Given the description of an element on the screen output the (x, y) to click on. 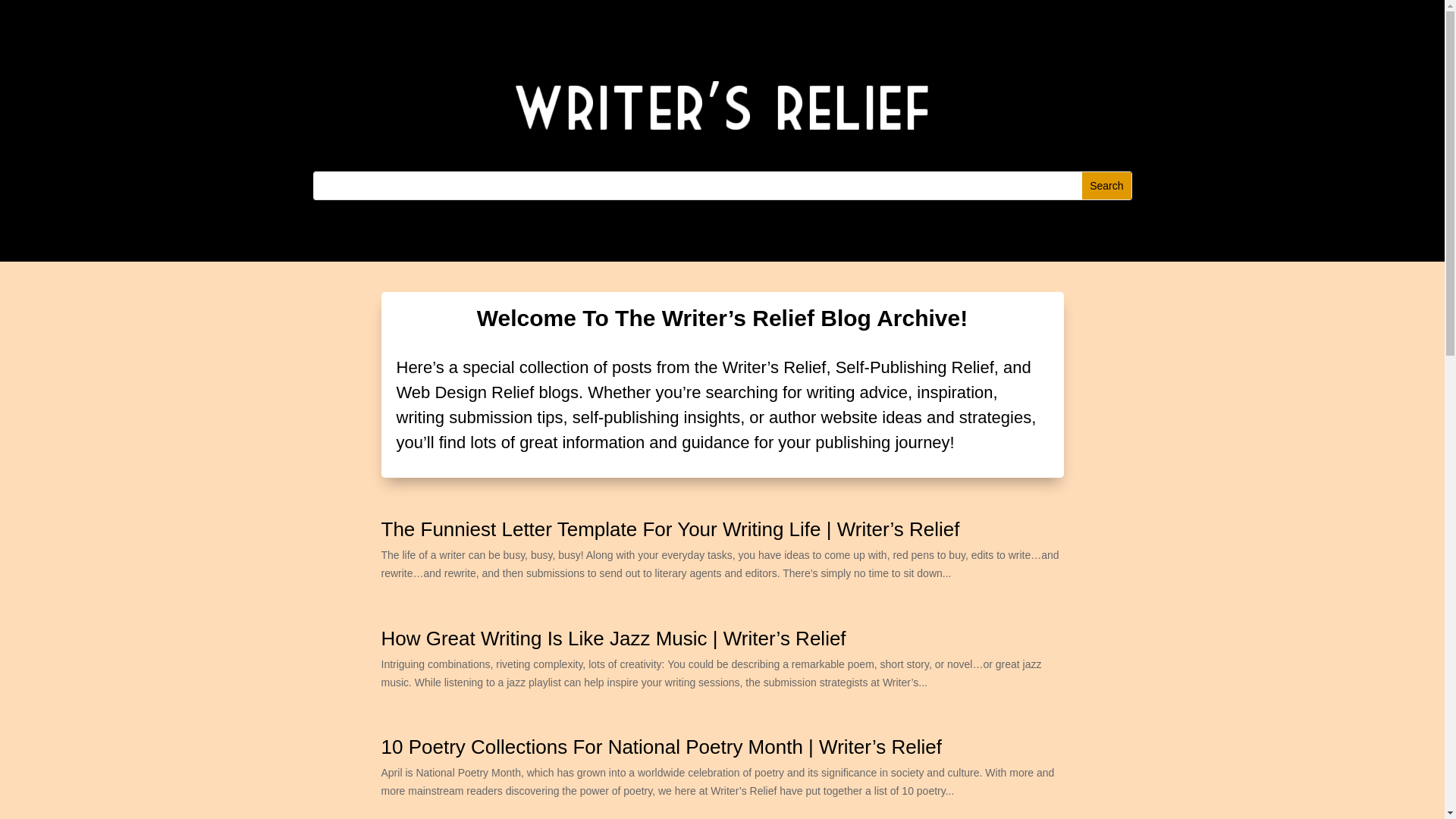
Search (1106, 185)
Search (1106, 185)
WRMainLogo-NEW2024 (722, 104)
Search (1106, 185)
